Given the description of an element on the screen output the (x, y) to click on. 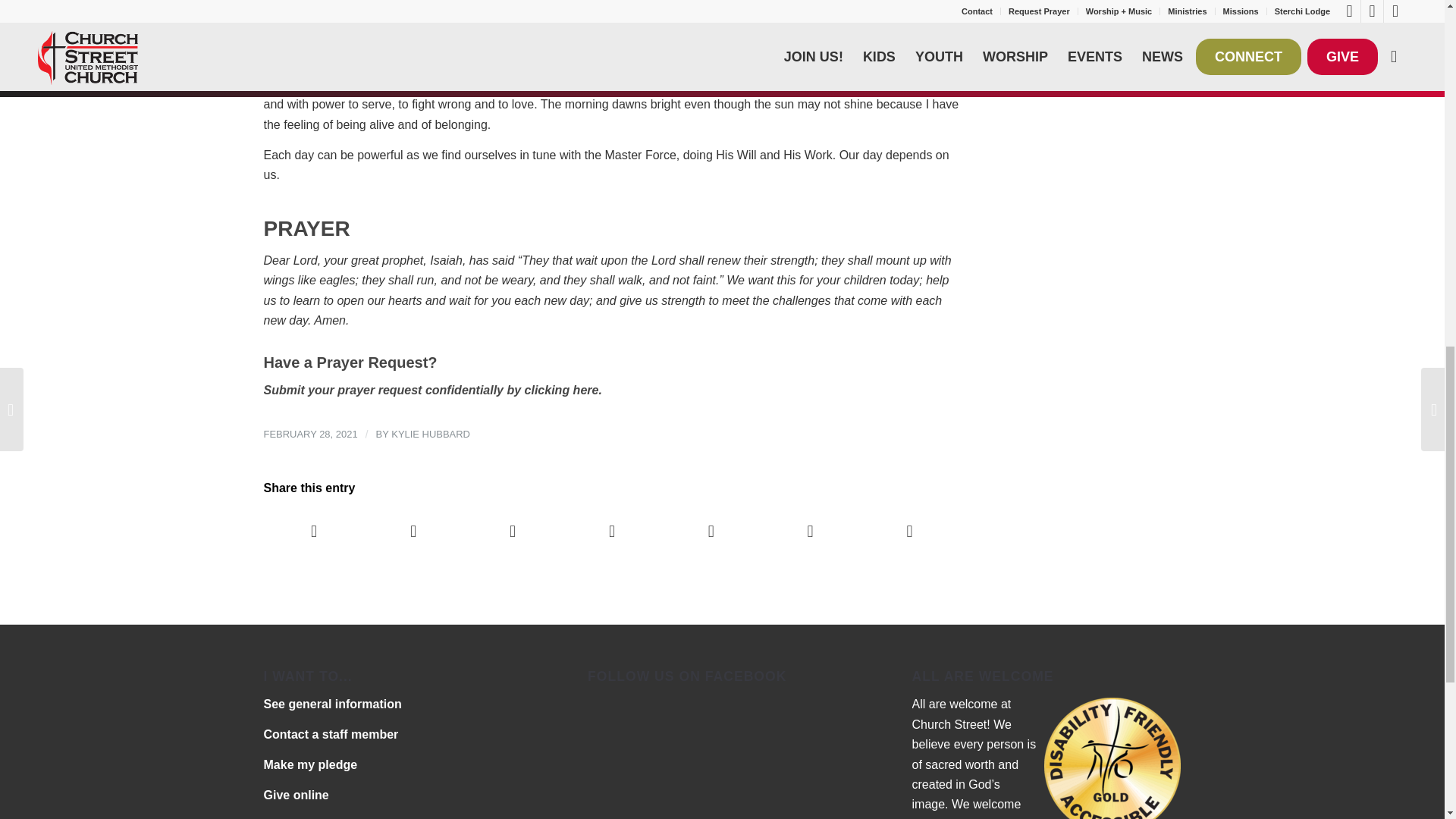
Posts by Kylie Hubbard (430, 433)
